Given the description of an element on the screen output the (x, y) to click on. 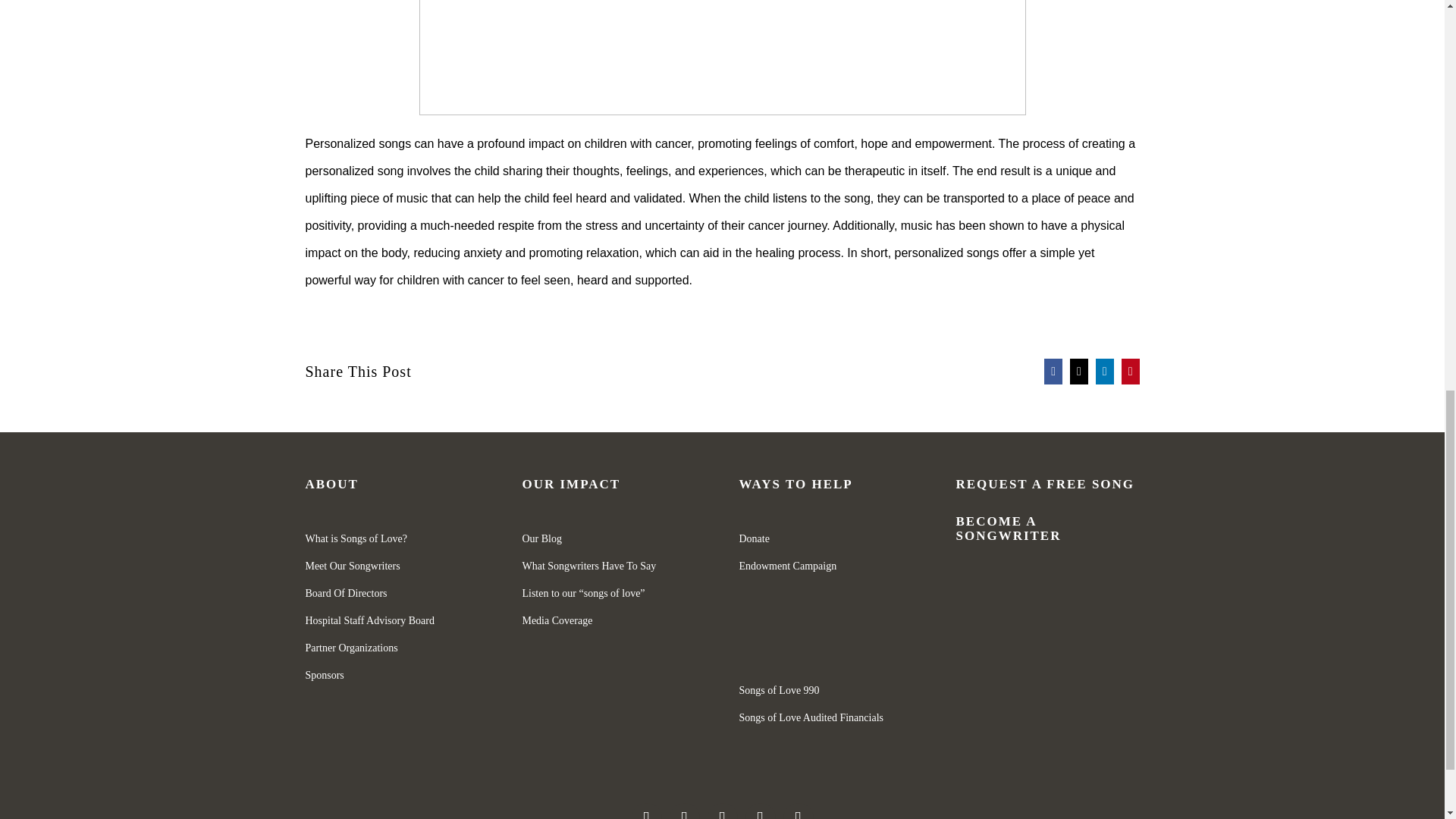
YouTube (759, 811)
X (1078, 370)
Pinterest (1130, 370)
Instagram (683, 811)
X (721, 811)
Facebook (645, 811)
LinkedIn (1104, 370)
Facebook (1052, 370)
Tiktok (797, 811)
